Given the description of an element on the screen output the (x, y) to click on. 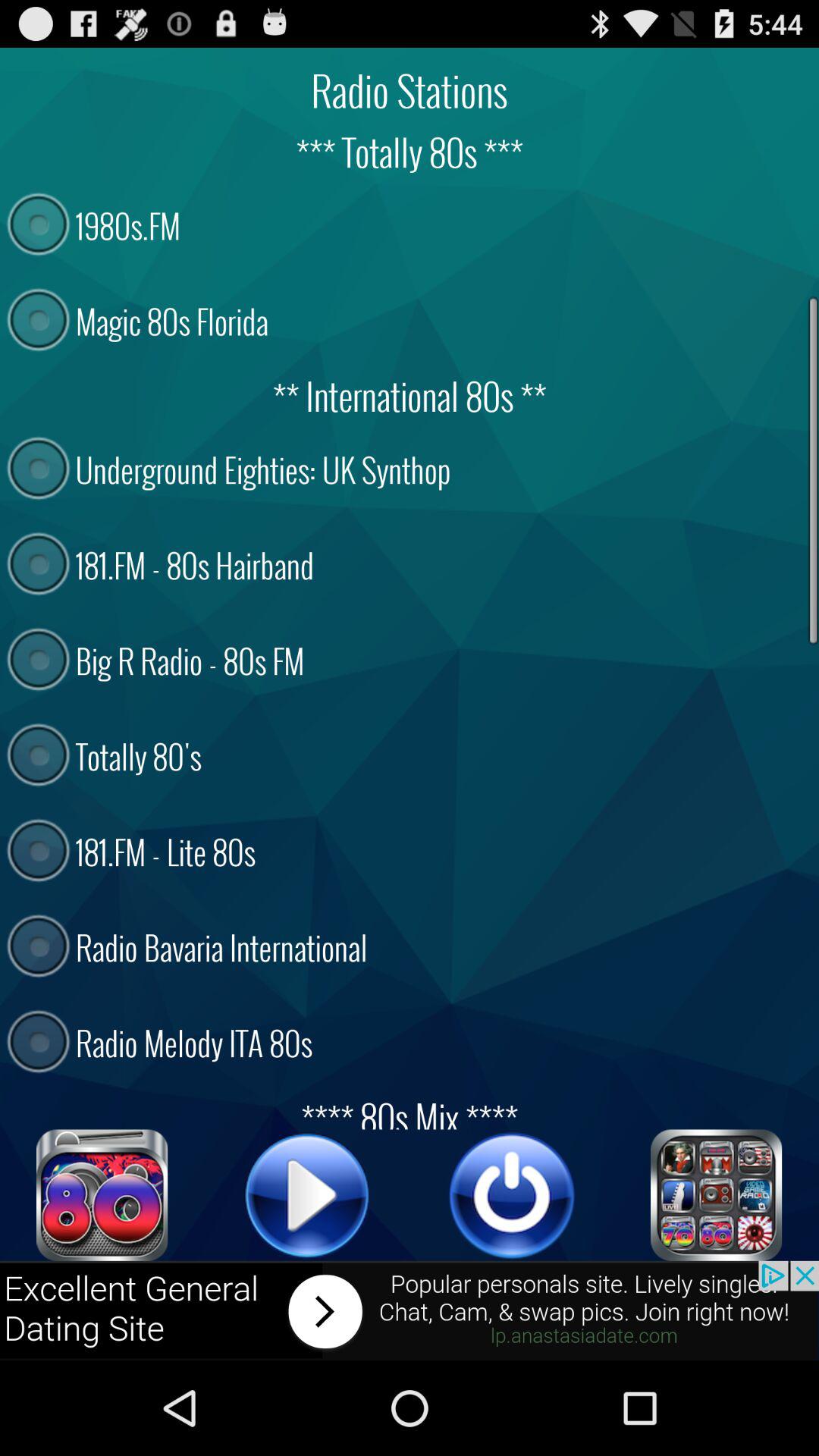
go to menu (716, 1194)
